Given the description of an element on the screen output the (x, y) to click on. 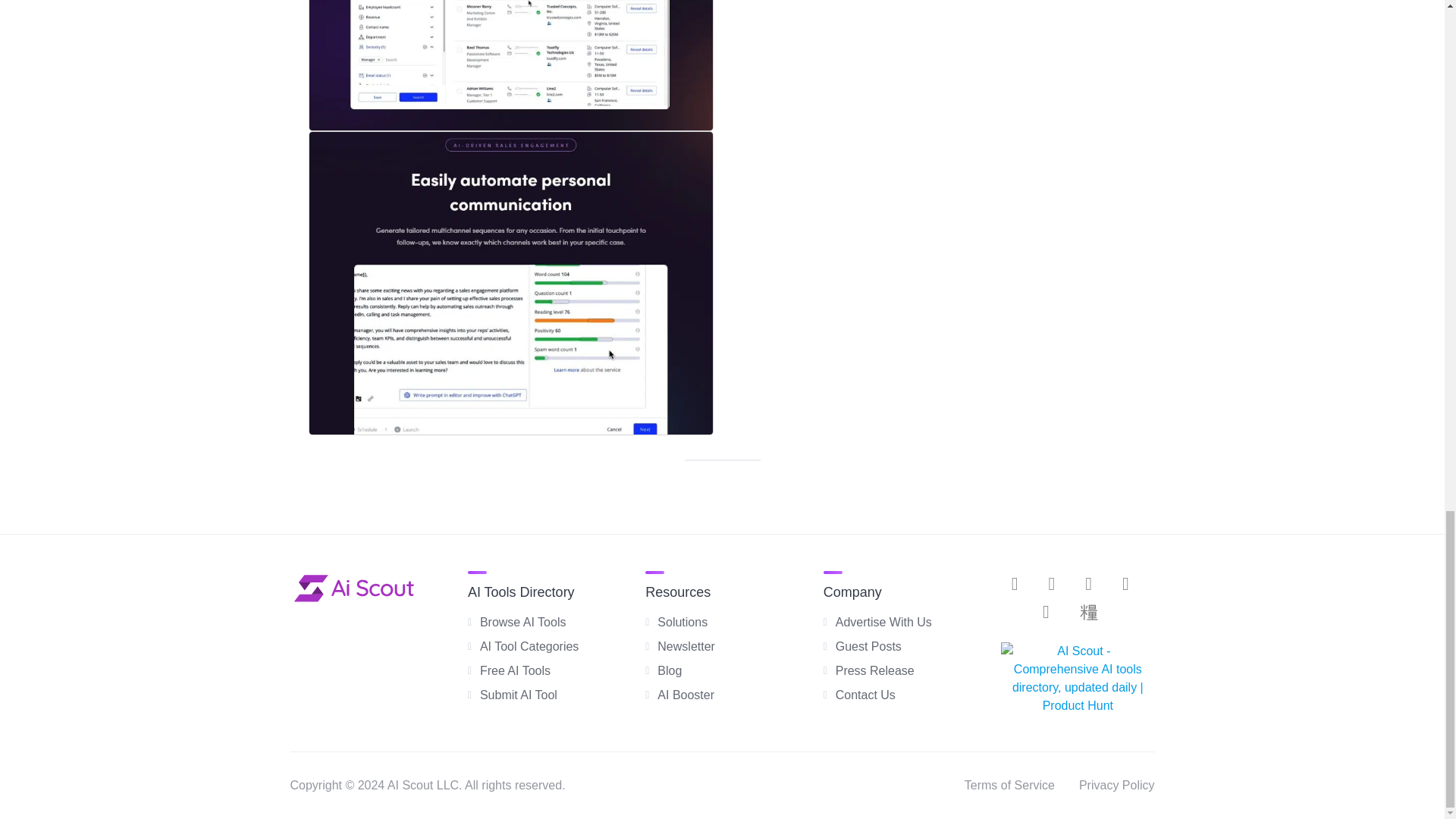
Solutions (682, 621)
Newsletter (686, 645)
AI Tool Categories (529, 645)
Blog (669, 670)
Submit AI Tool (518, 694)
Free AI Tools (515, 670)
AI Booster (686, 694)
Browse AI Tools (523, 621)
